Given the description of an element on the screen output the (x, y) to click on. 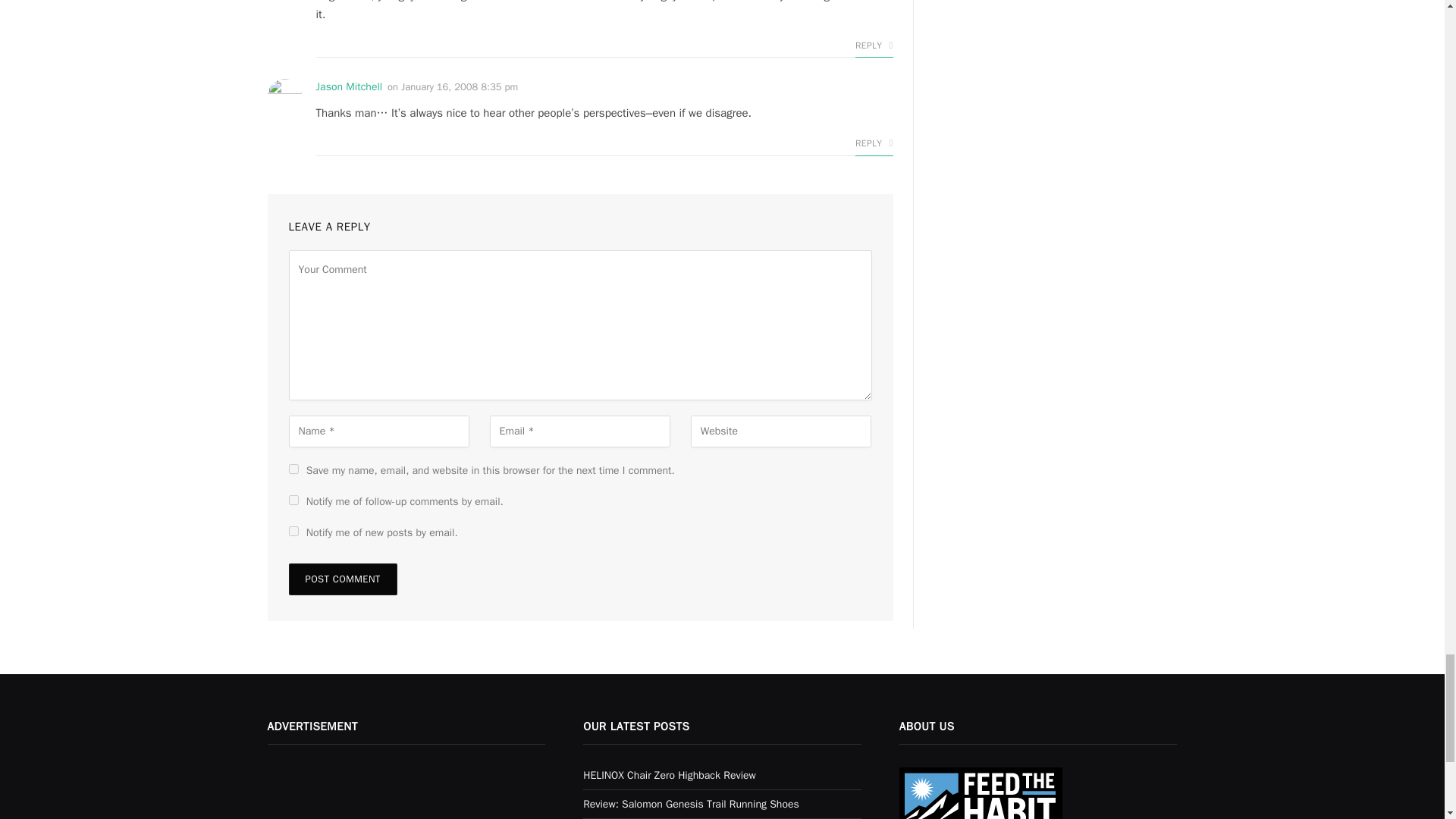
Post Comment (342, 579)
yes (293, 469)
subscribe (293, 531)
subscribe (293, 500)
